Given the description of an element on the screen output the (x, y) to click on. 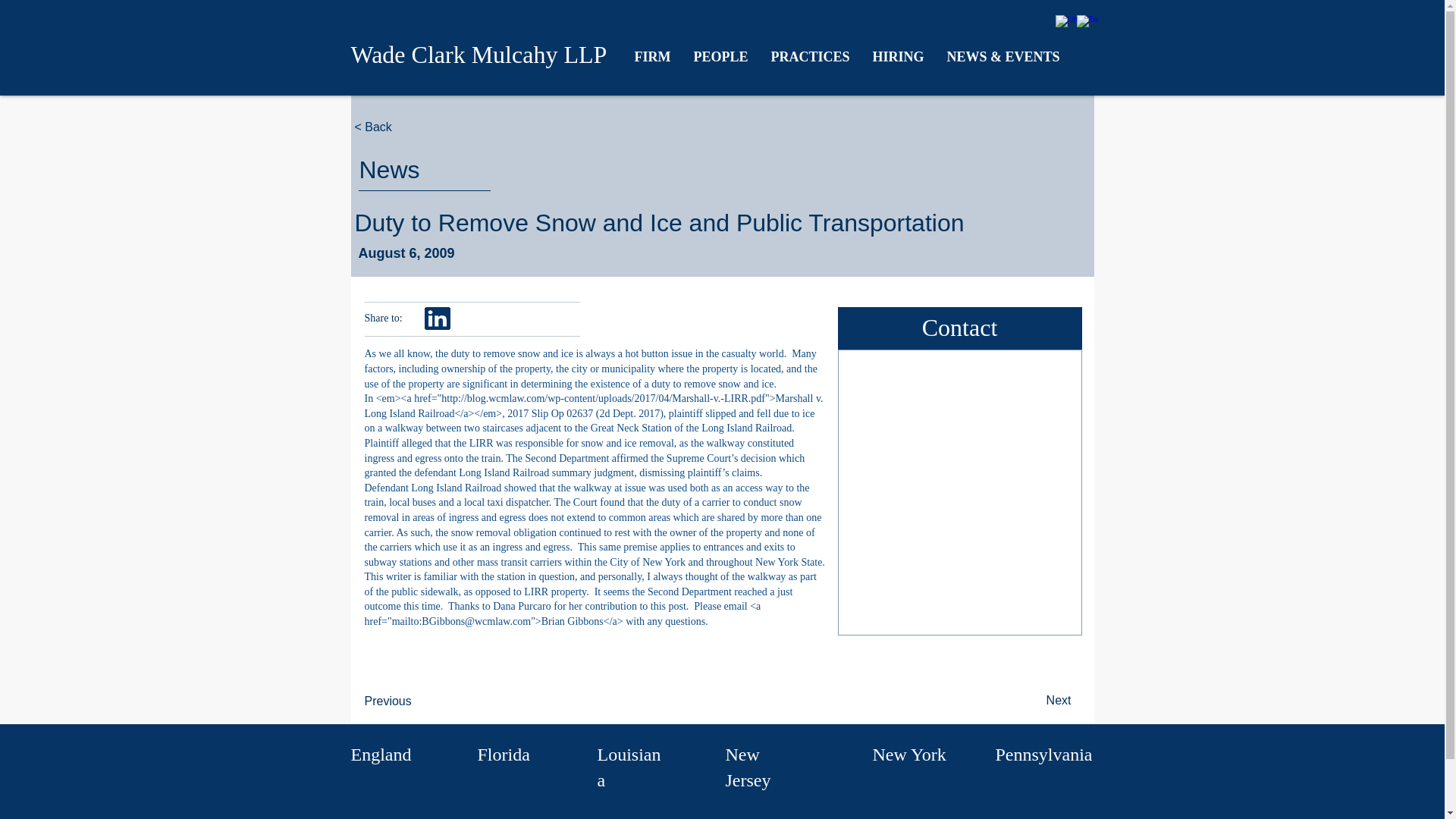
New York (908, 754)
New Jersey (747, 767)
Wade Clark Mulcahy LLP (478, 53)
Florida (503, 754)
PEOPLE (721, 56)
England (380, 754)
PRACTICES (810, 56)
FIRM (652, 56)
Previous (414, 701)
Pennsylvania (1043, 754)
